Given the description of an element on the screen output the (x, y) to click on. 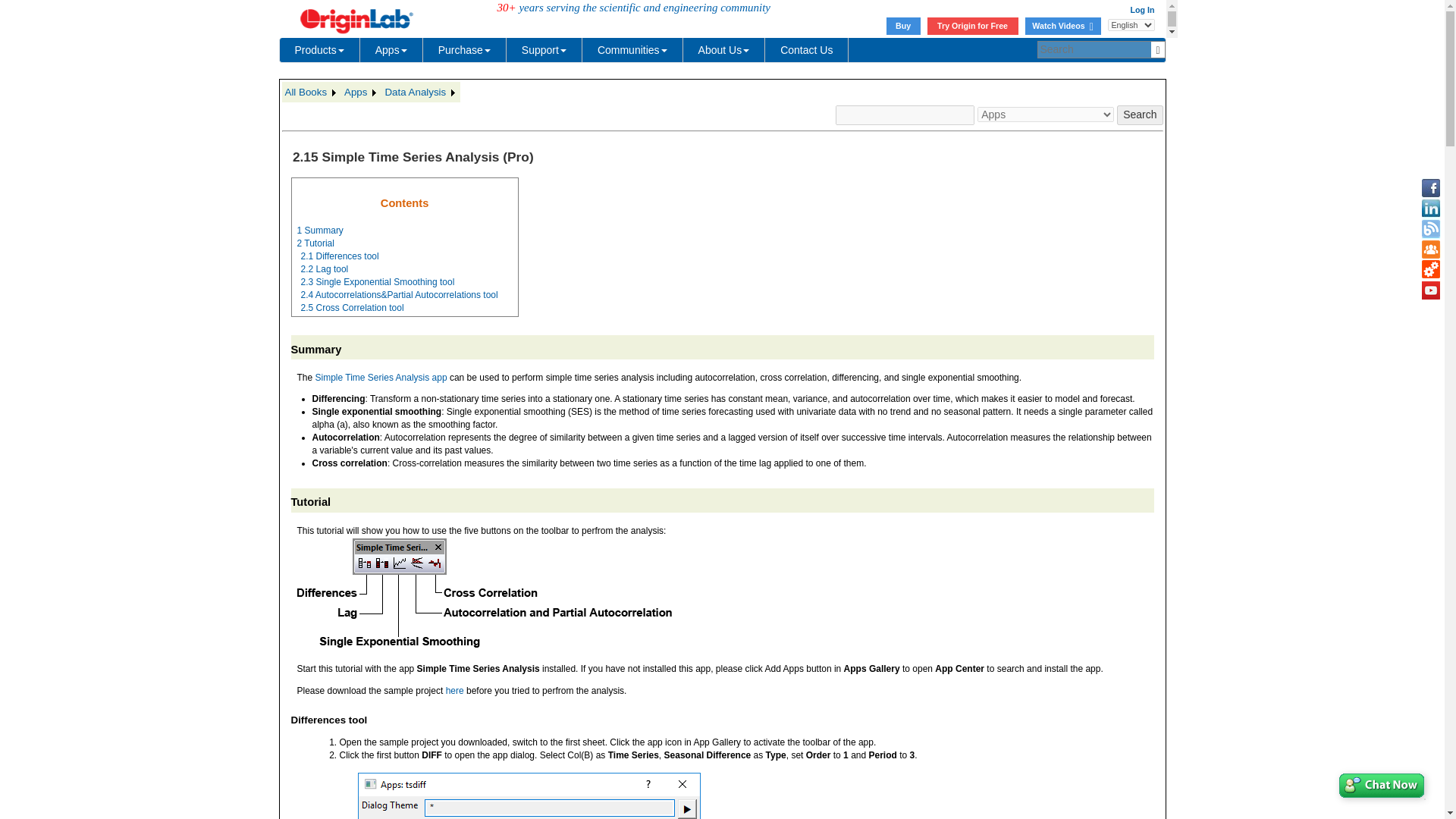
Try Origin for Free (972, 26)
Facebook (1431, 188)
Buy Now (903, 26)
Apps (360, 91)
Search (1138, 115)
LinkedIn (1431, 208)
Forum (1431, 249)
Products (319, 49)
Youtube (1431, 290)
All Books (312, 91)
Log In (1142, 9)
Data Analysis (420, 91)
Watch Videos  (1062, 26)
File Exchange (1431, 270)
Blog (1431, 229)
